Given the description of an element on the screen output the (x, y) to click on. 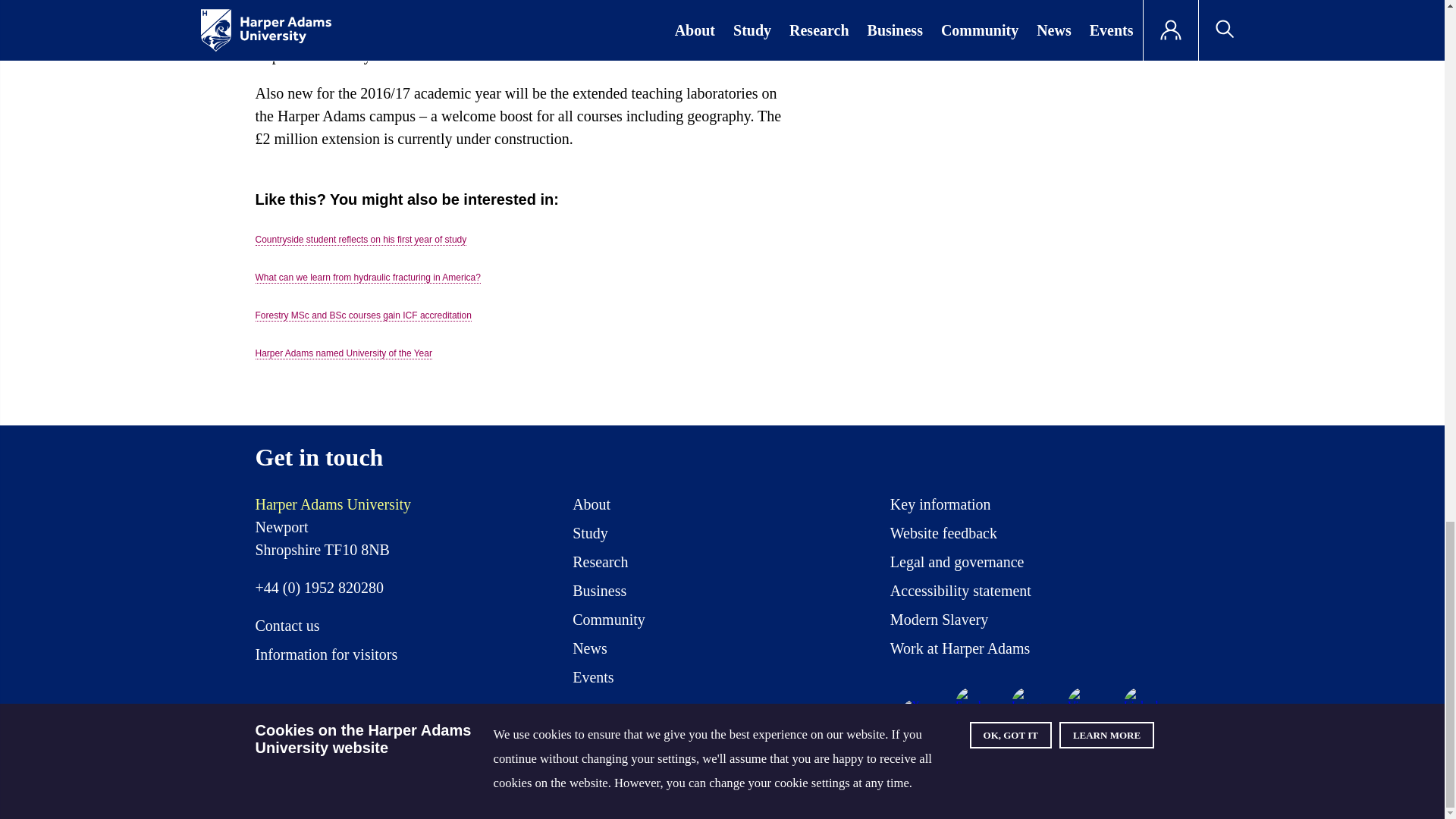
LinkedIn - opens in a new window (1141, 704)
Facebook - opens in a new window (972, 704)
Instagram - opens in a new window (1028, 704)
Modern Slavery Act PDF - opens in a new window (938, 622)
X - opens in a new window (916, 716)
Vimeo - opens in a new window (1084, 704)
